Given the description of an element on the screen output the (x, y) to click on. 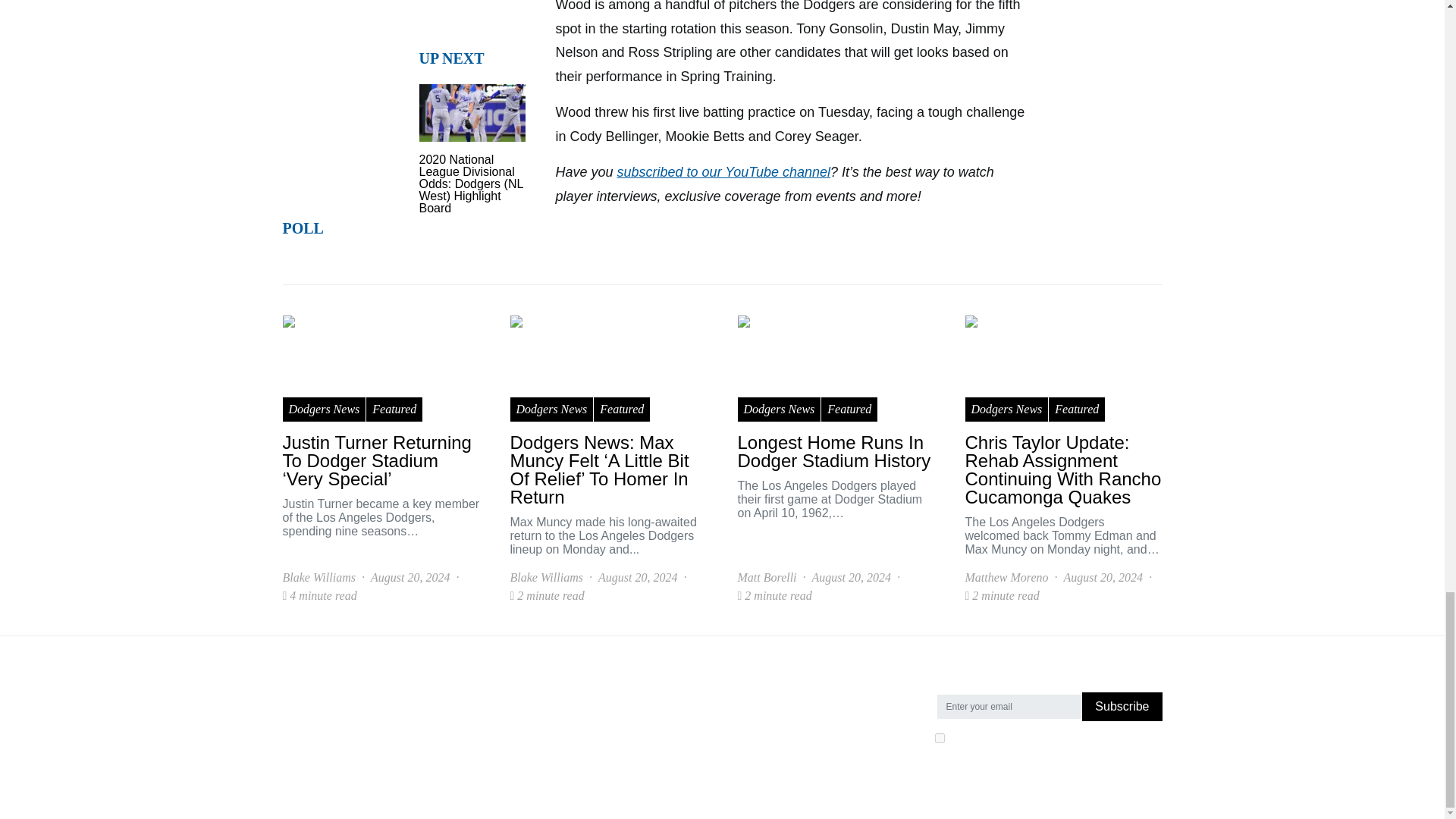
View all posts by Blake Williams (318, 577)
View all posts by Matt Borelli (766, 577)
View all posts by Blake Williams (545, 577)
on (938, 737)
View all posts by Matthew Moreno (1005, 577)
